Given the description of an element on the screen output the (x, y) to click on. 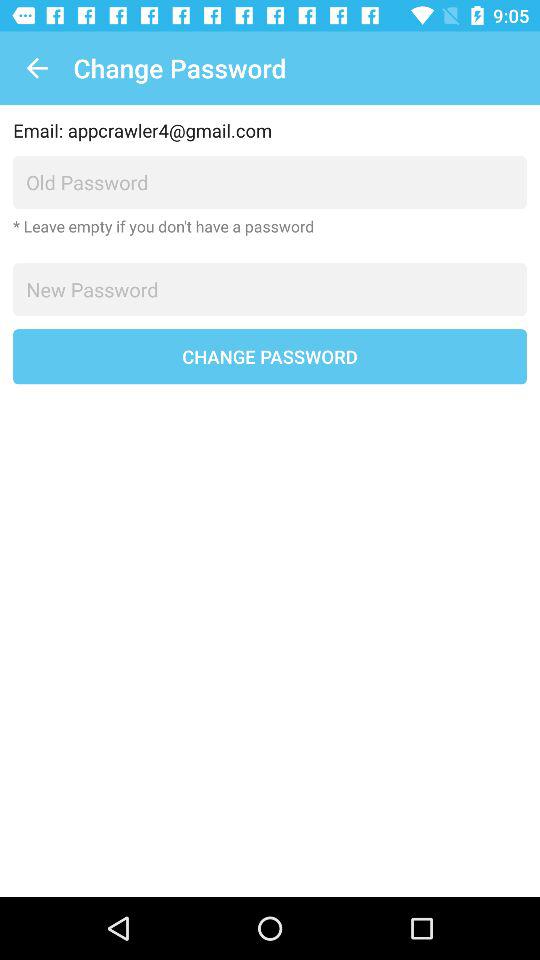
choose the item next to change password (36, 68)
